Given the description of an element on the screen output the (x, y) to click on. 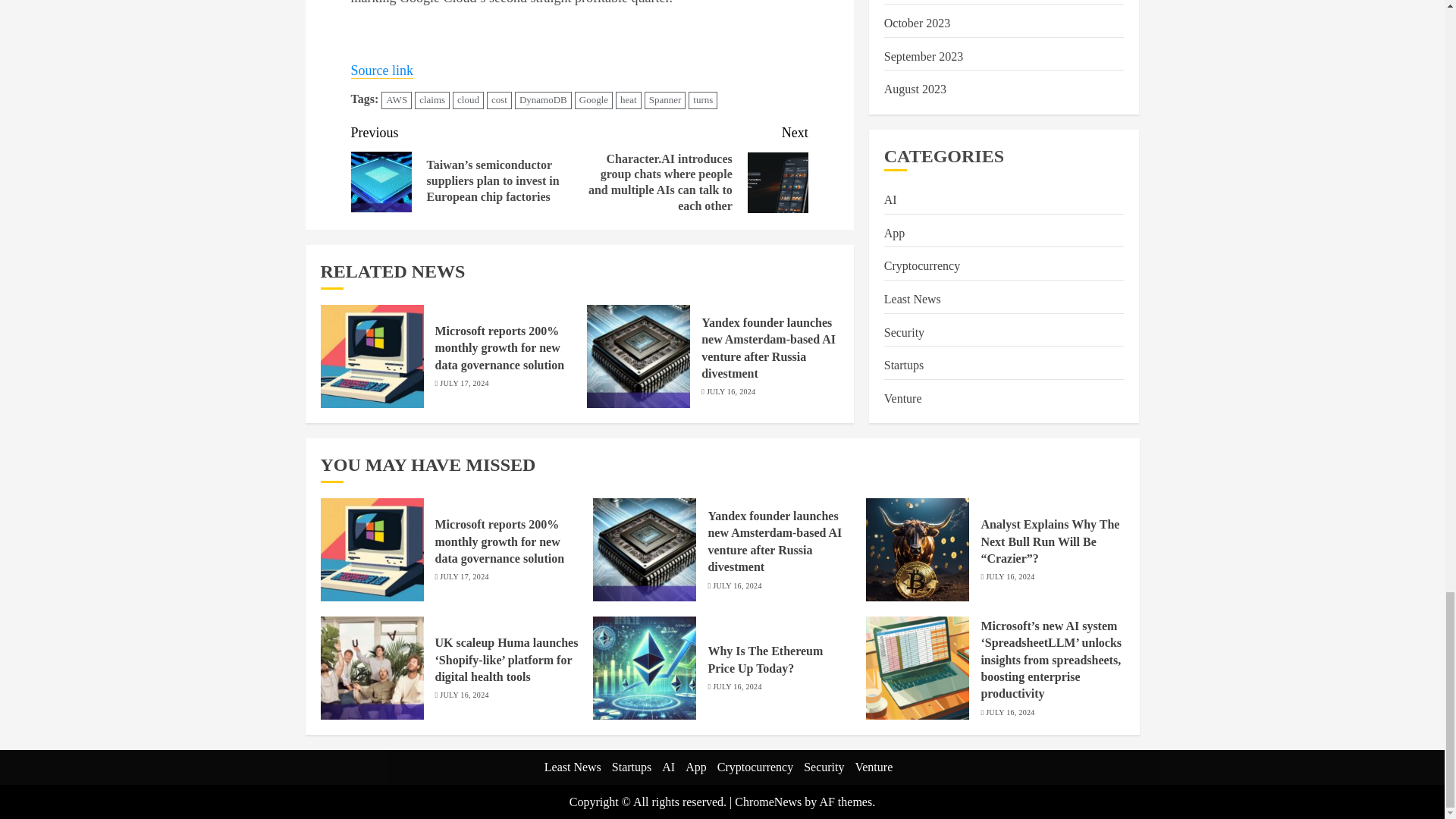
cost (499, 99)
heat (628, 99)
AWS (396, 99)
claims (431, 99)
Source link (381, 70)
Spanner (665, 99)
turns (702, 99)
Google (593, 99)
DynamoDB (543, 99)
cloud (467, 99)
